Given the description of an element on the screen output the (x, y) to click on. 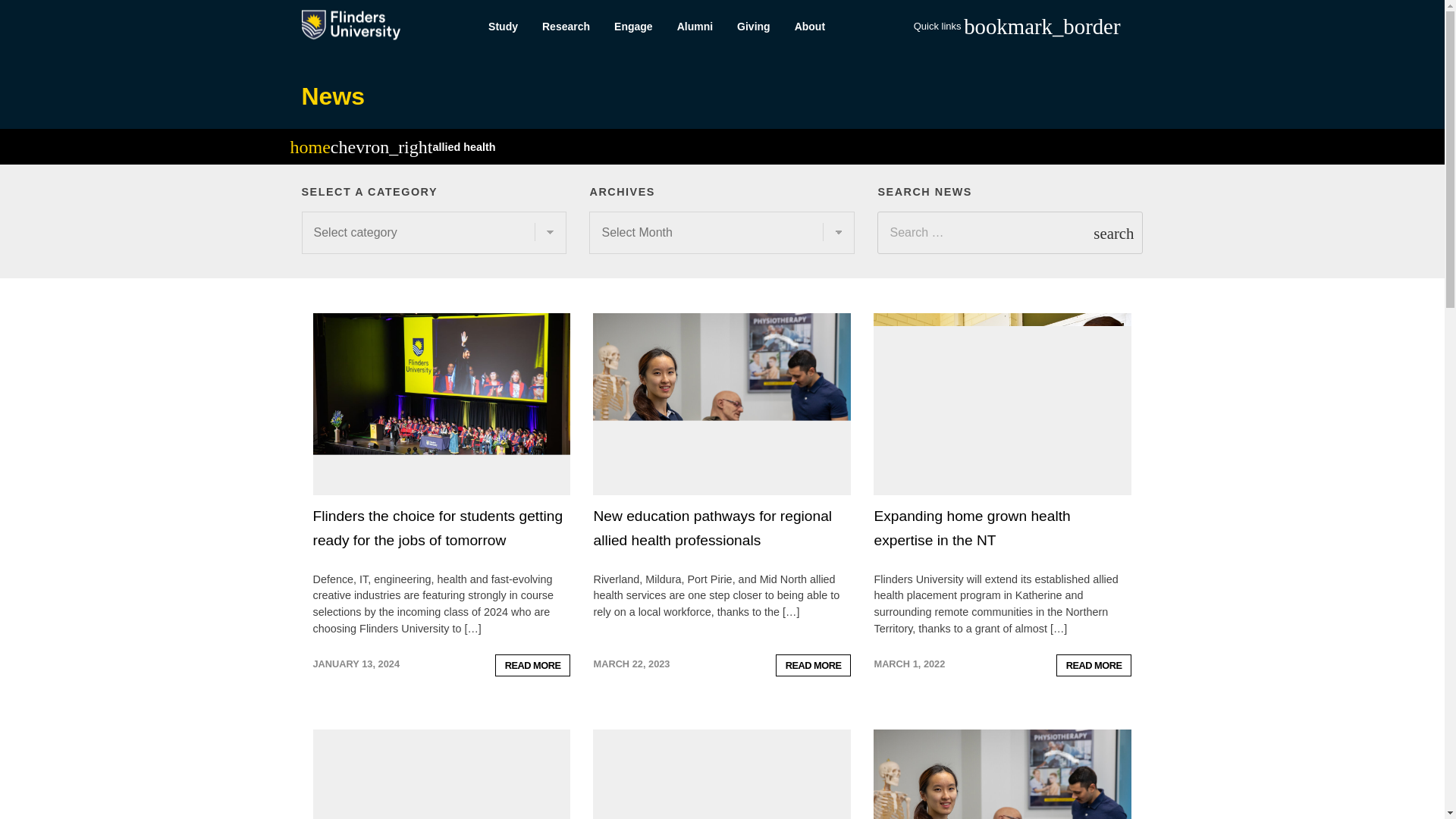
READ MORE (532, 665)
Expanding home grown health expertise in the NT (971, 527)
Engage (633, 26)
READ MORE (813, 665)
home (309, 149)
Study (502, 26)
Research (565, 26)
READ MORE (1094, 665)
search (1113, 232)
About (810, 26)
Alumni (695, 26)
News (333, 95)
Giving (754, 26)
